Given the description of an element on the screen output the (x, y) to click on. 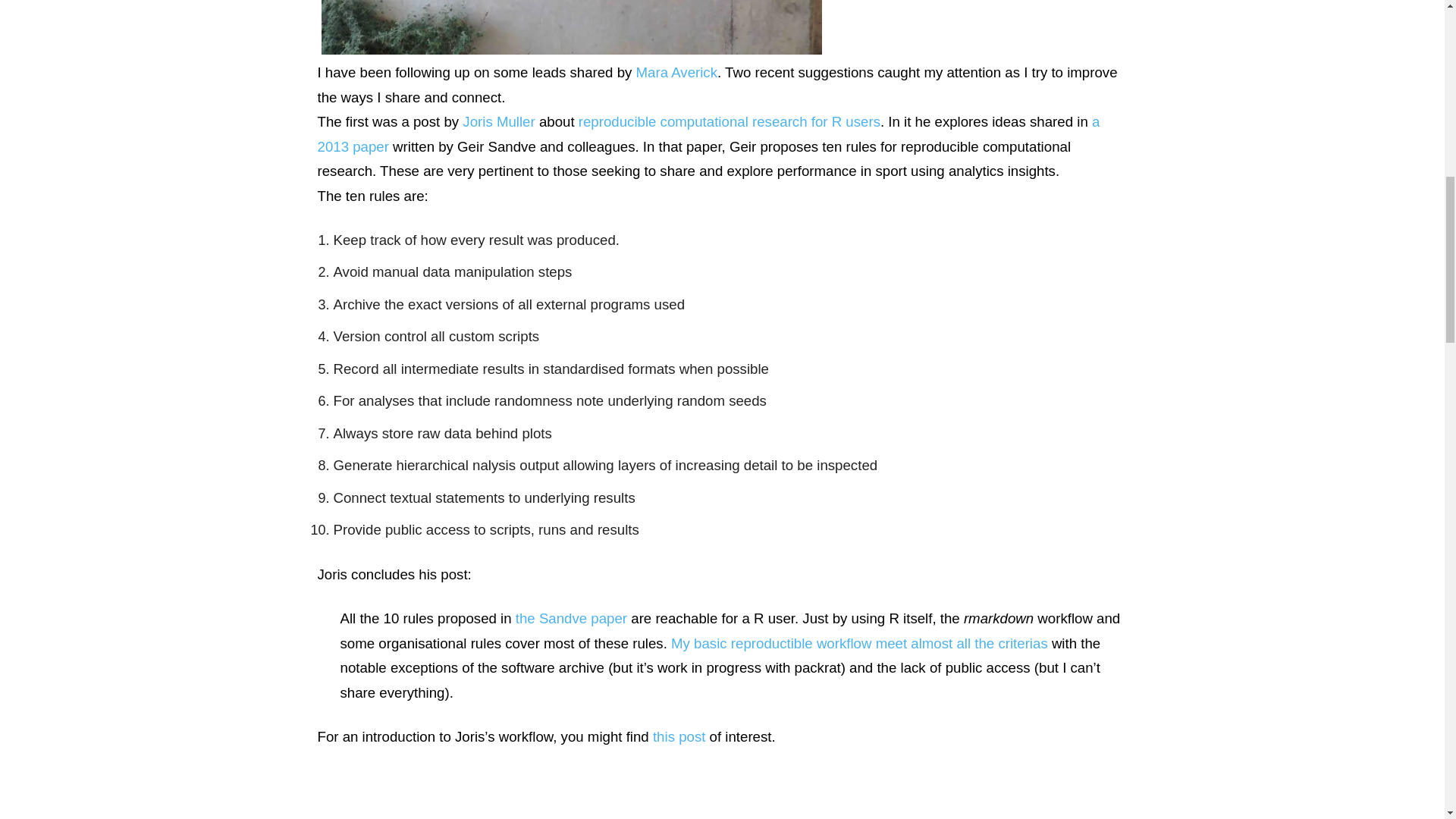
reproducible computational research for R users (729, 121)
Joris Muller (498, 121)
Mara Averick (676, 72)
